Given the description of an element on the screen output the (x, y) to click on. 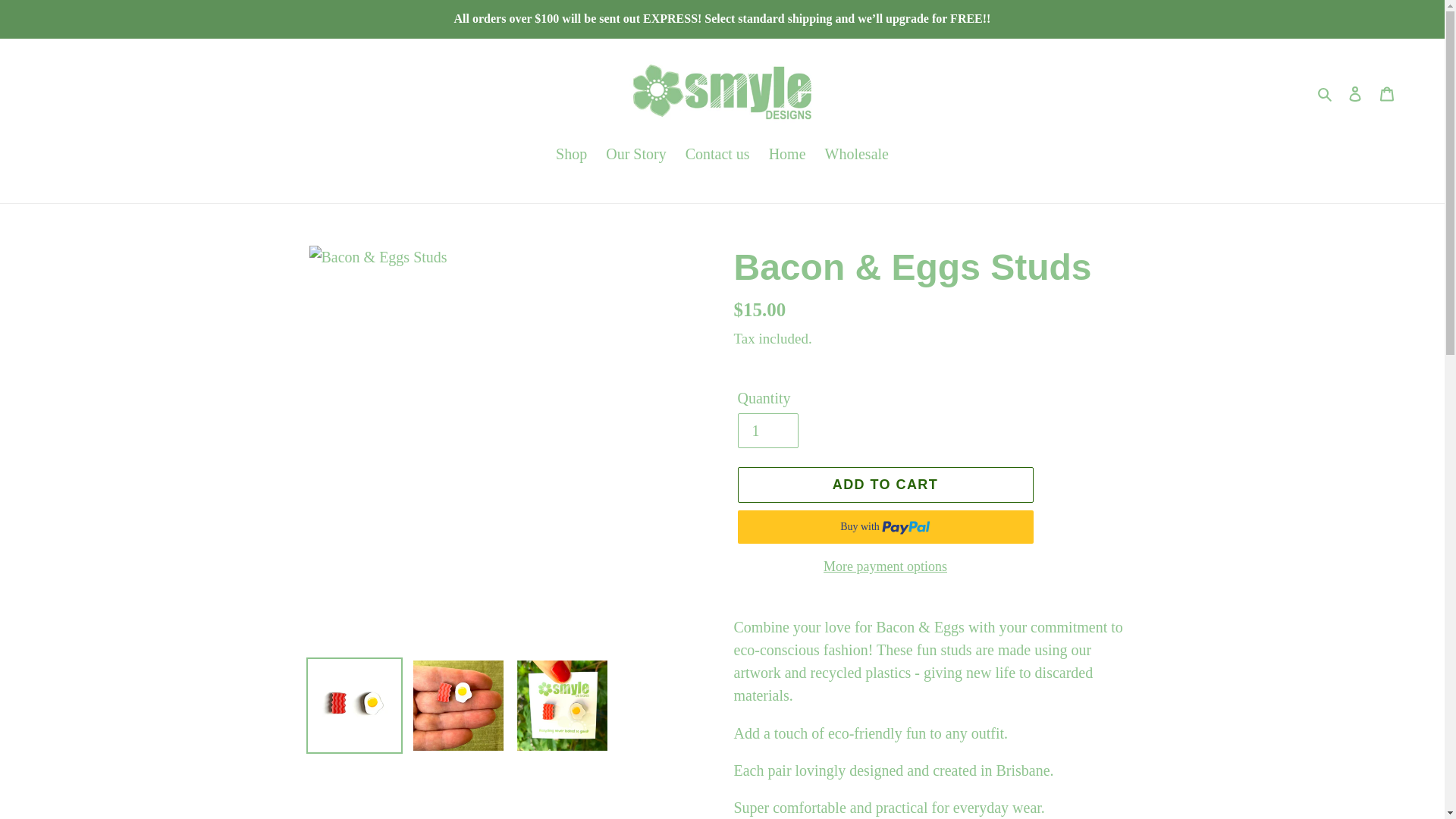
Contact us (717, 154)
More payment options (884, 567)
ADD TO CART (884, 484)
Shop (571, 154)
1 (766, 430)
Wholesale (856, 154)
Search (1326, 92)
Home (787, 154)
Our Story (635, 154)
